Given the description of an element on the screen output the (x, y) to click on. 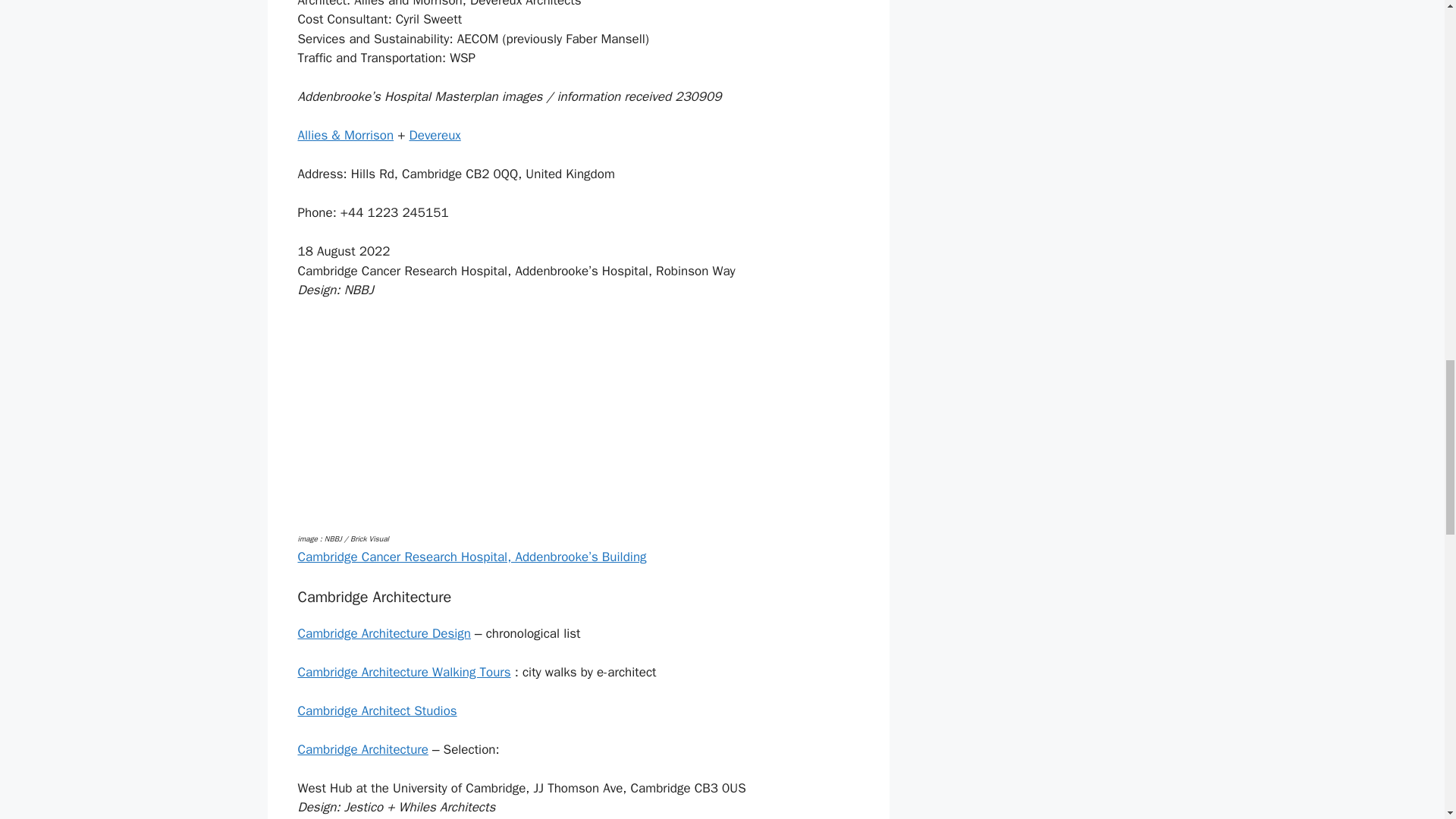
Cambridge Architecture (362, 749)
Devereux (435, 135)
Cambridge Architect Studios (377, 710)
Cambridge Architecture Walking Tours (404, 672)
Cambridge Architecture Design (383, 633)
